Given the description of an element on the screen output the (x, y) to click on. 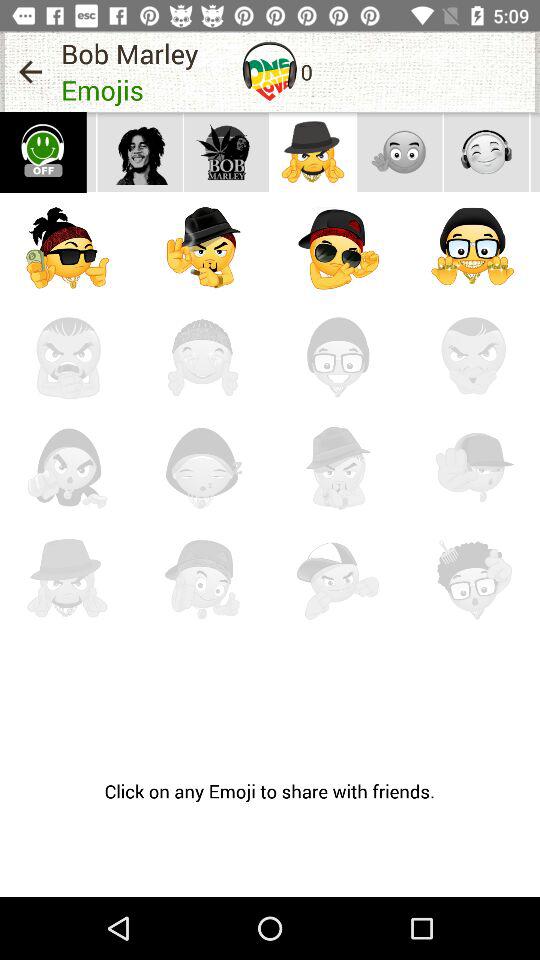
turn off item to the left of the bob marley icon (30, 71)
